Given the description of an element on the screen output the (x, y) to click on. 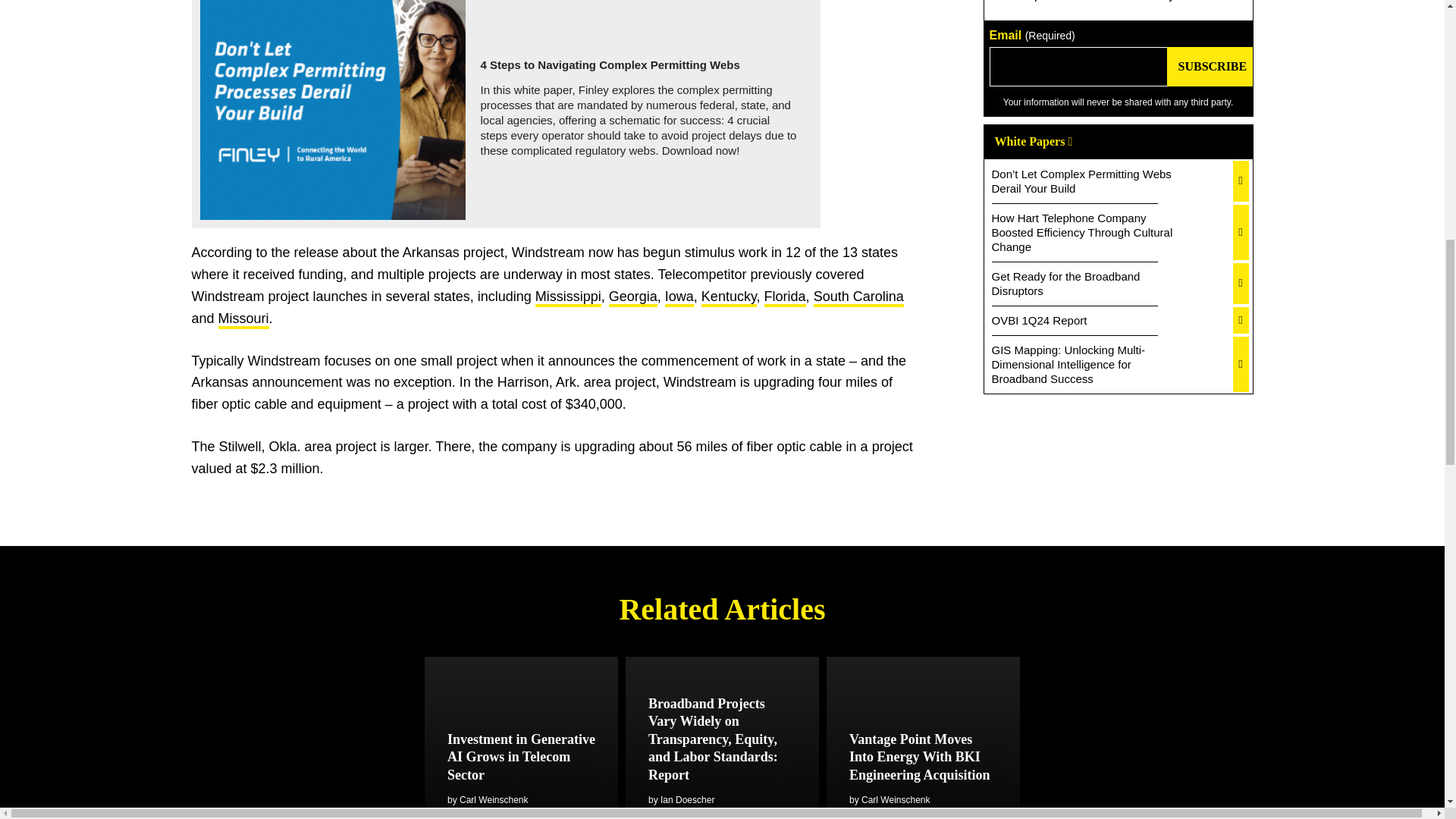
Mississippi (568, 298)
